Given the description of an element on the screen output the (x, y) to click on. 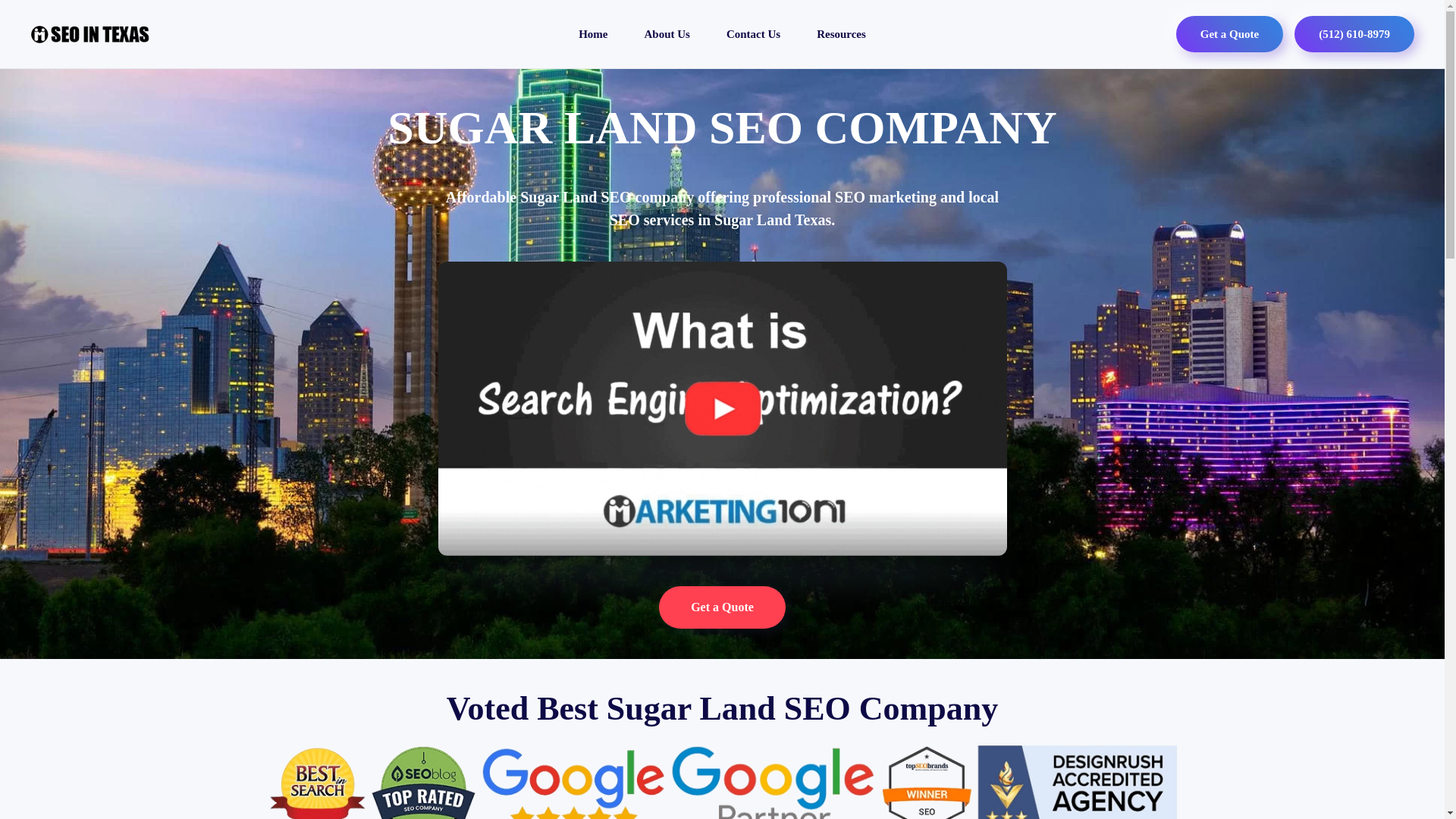
Contact Us (752, 33)
Home (593, 33)
Contact Us (752, 33)
Resources (840, 33)
SEO in Texas (593, 33)
About Us (666, 33)
About Us (666, 33)
Get a Quote (1229, 33)
Get a Quote (722, 607)
